Given the description of an element on the screen output the (x, y) to click on. 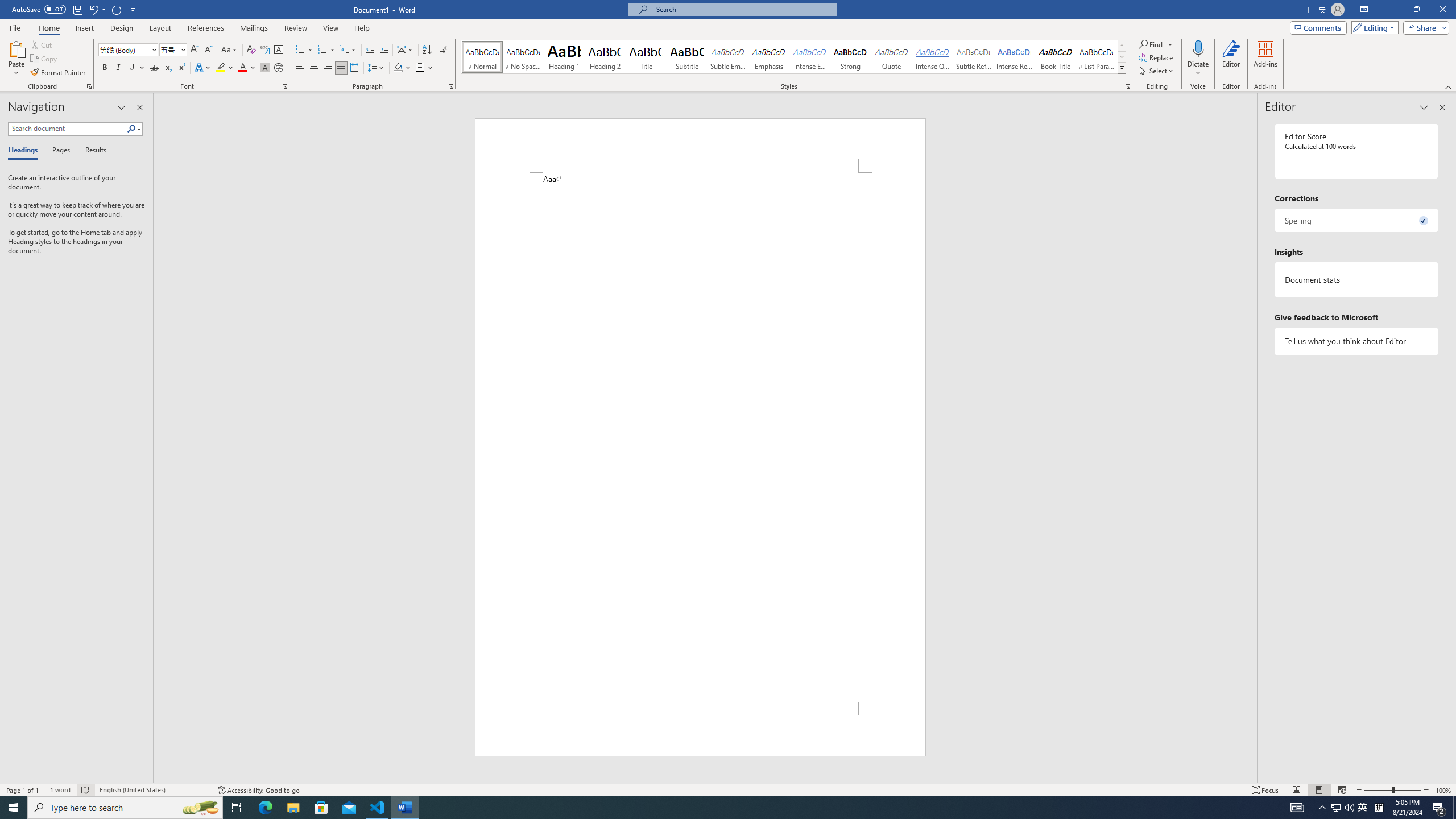
Book Title (1055, 56)
